Given the description of an element on the screen output the (x, y) to click on. 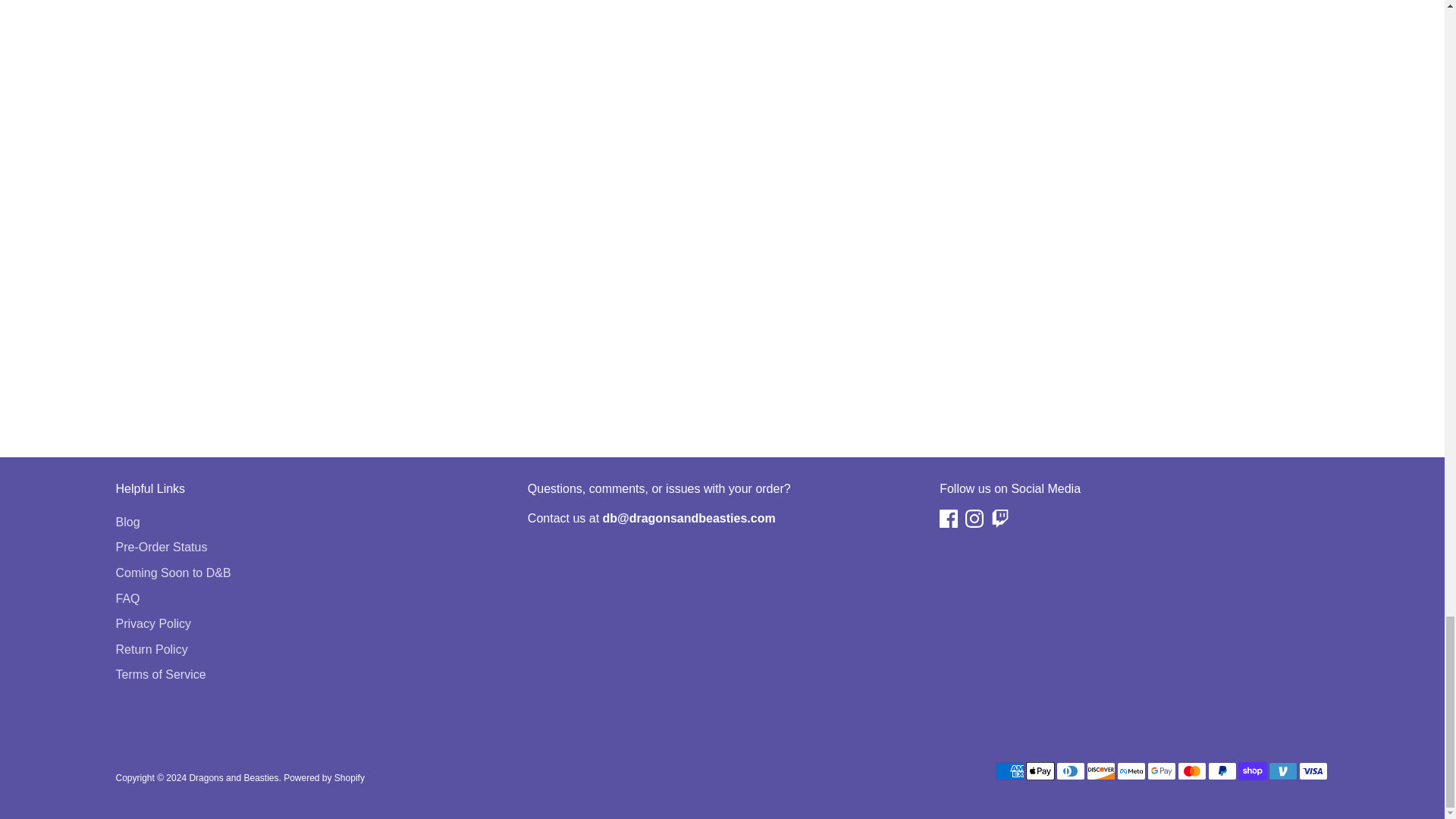
Discover (1100, 771)
Meta Pay (1130, 771)
American Express (1008, 771)
Apple Pay (1039, 771)
Diners Club (1069, 771)
